Given the description of an element on the screen output the (x, y) to click on. 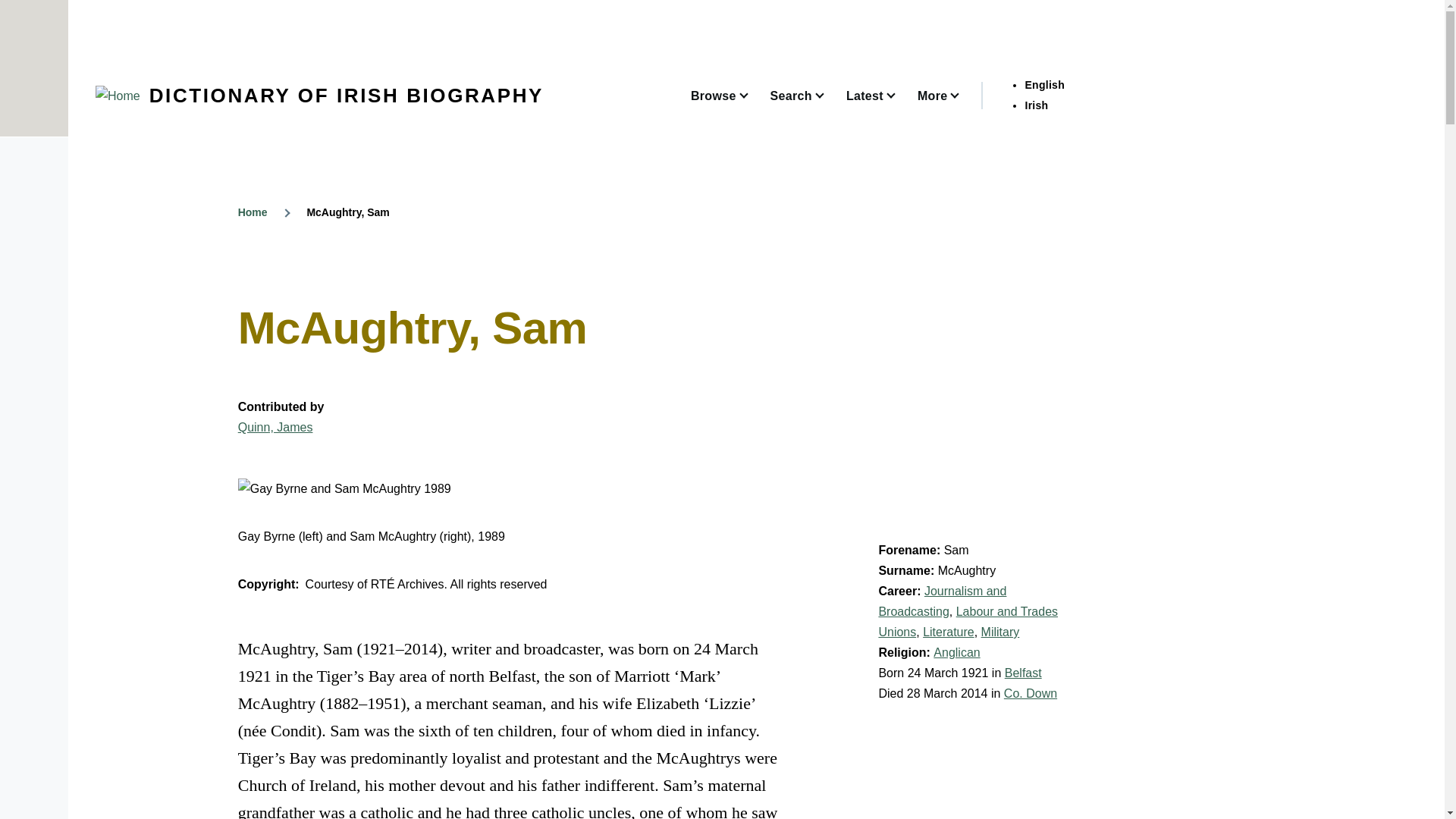
Journalism and Broadcasting (941, 601)
Home (252, 212)
Labour and Trades Unions (967, 621)
Skip to main content (595, 6)
Quinn, James (275, 427)
Home (346, 95)
DICTIONARY OF IRISH BIOGRAPHY (346, 95)
Gay Byrne and Sam McAughtry 1989 (509, 488)
